Given the description of an element on the screen output the (x, y) to click on. 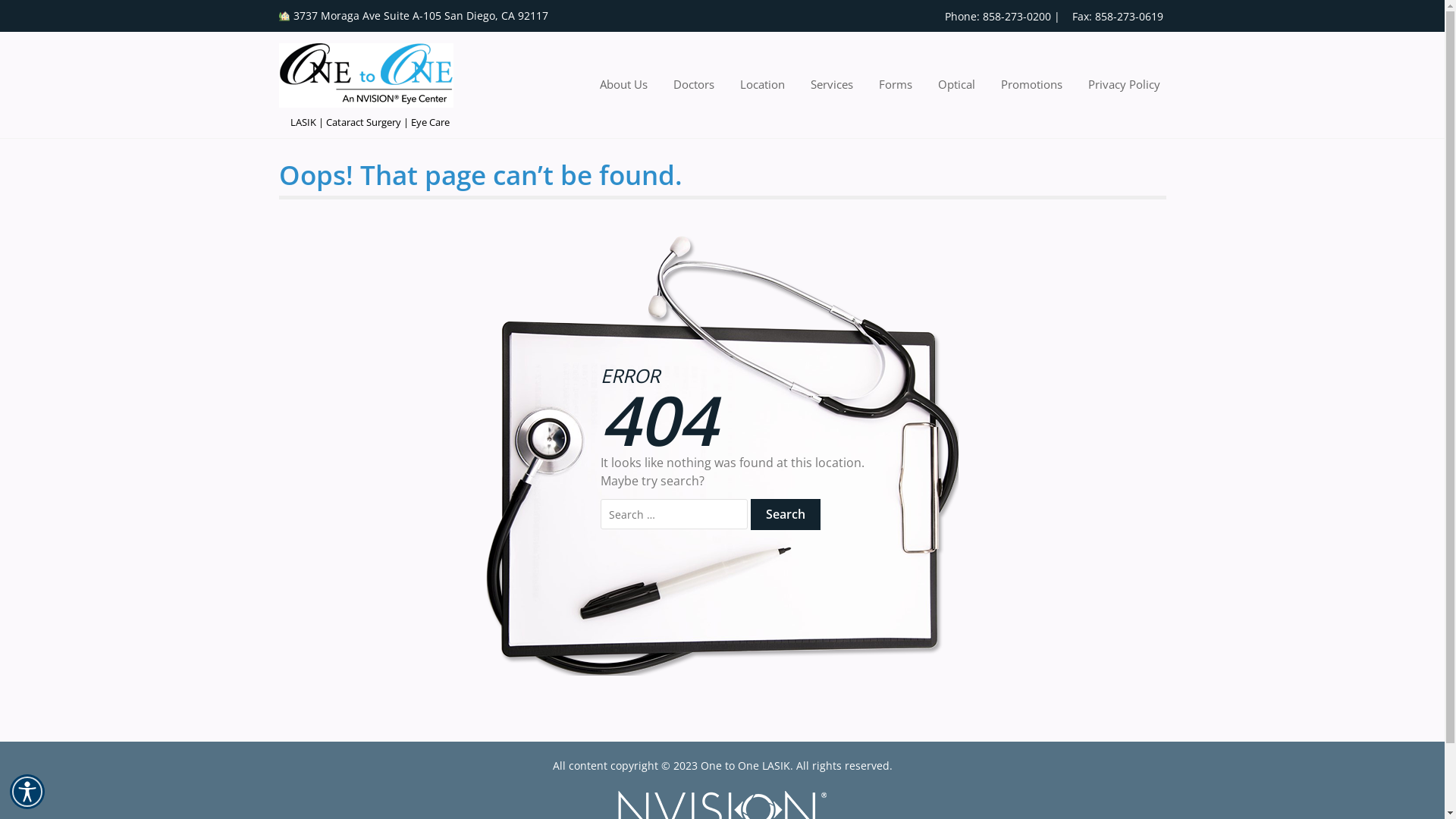
Optical Element type: text (956, 84)
Doctors Element type: text (693, 84)
LASIK | Cataract Surgery | Eye Care Element type: text (368, 122)
Search Element type: text (785, 514)
Promotions Element type: text (1031, 84)
Privacy Policy Element type: text (1118, 84)
   Phone: 858-273-0200 Element type: text (993, 16)
3737 Moraga Ave Suite A-105 San Diego, CA 92117 Element type: text (415, 15)
About Us Element type: text (623, 84)
Services Element type: text (831, 84)
Location Element type: text (762, 84)
Forms Element type: text (895, 84)
858-273-0619 Element type: text (1129, 16)
